Given the description of an element on the screen output the (x, y) to click on. 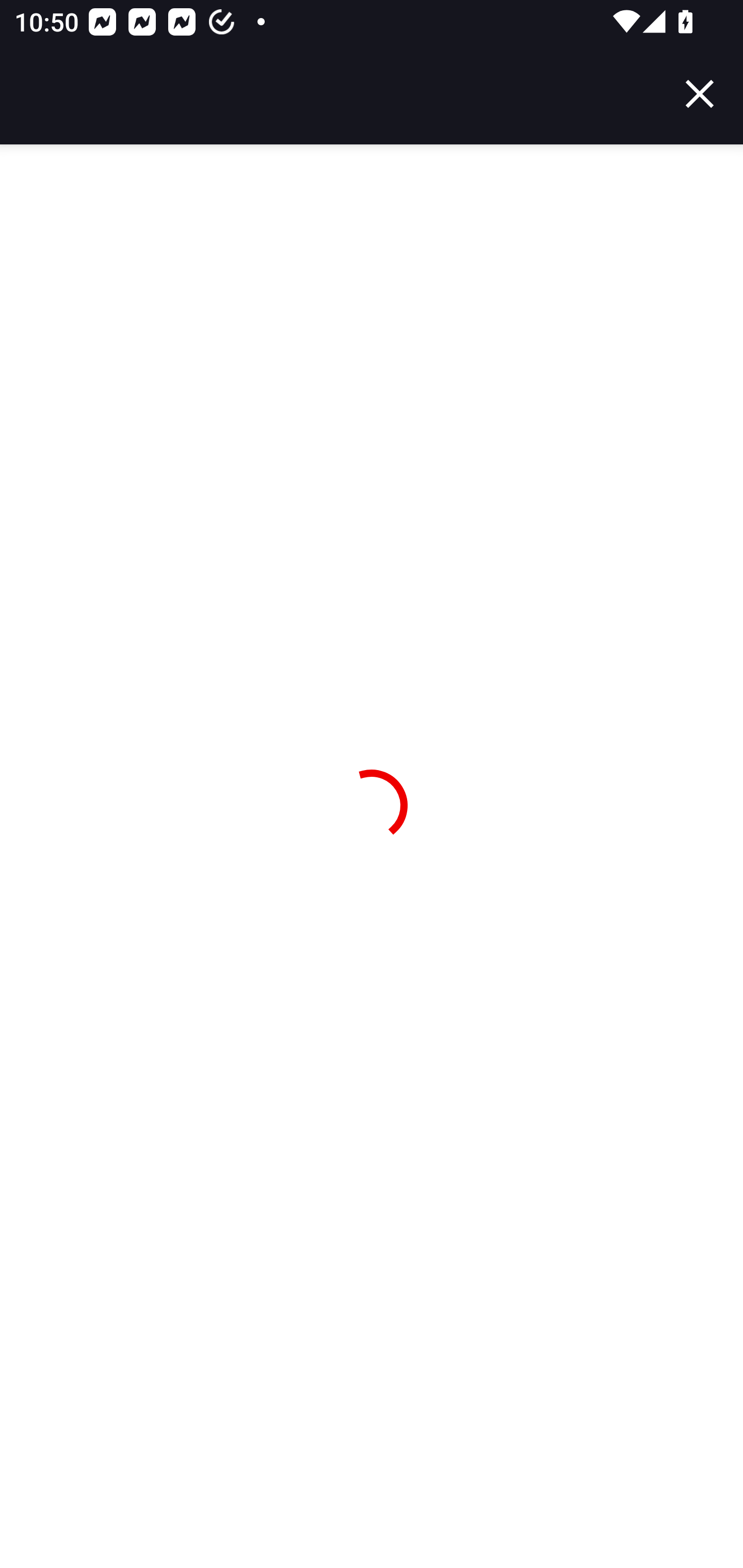
Close (699, 93)
